Given the description of an element on the screen output the (x, y) to click on. 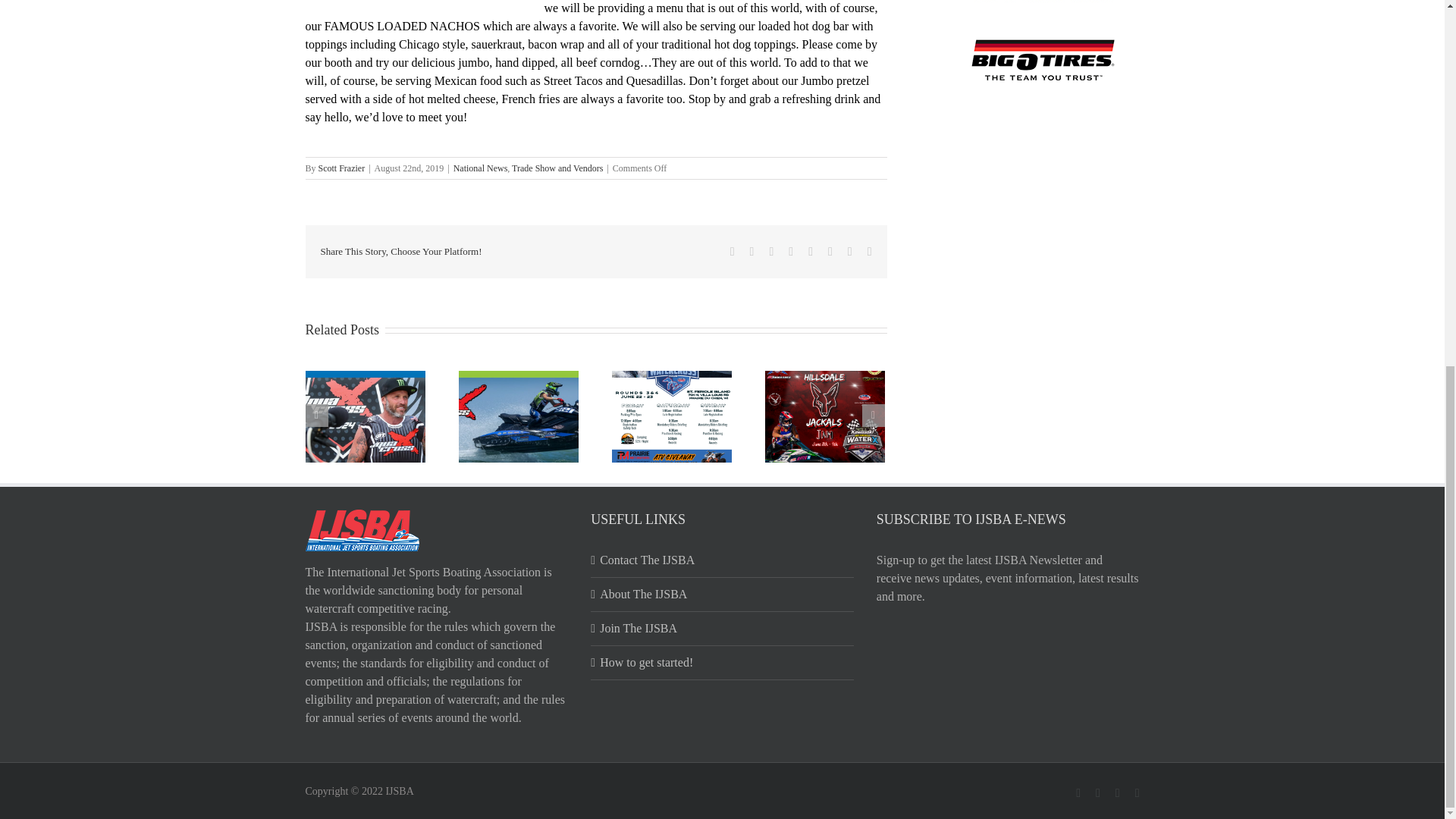
Posts by Scott Frazier (341, 167)
